Given the description of an element on the screen output the (x, y) to click on. 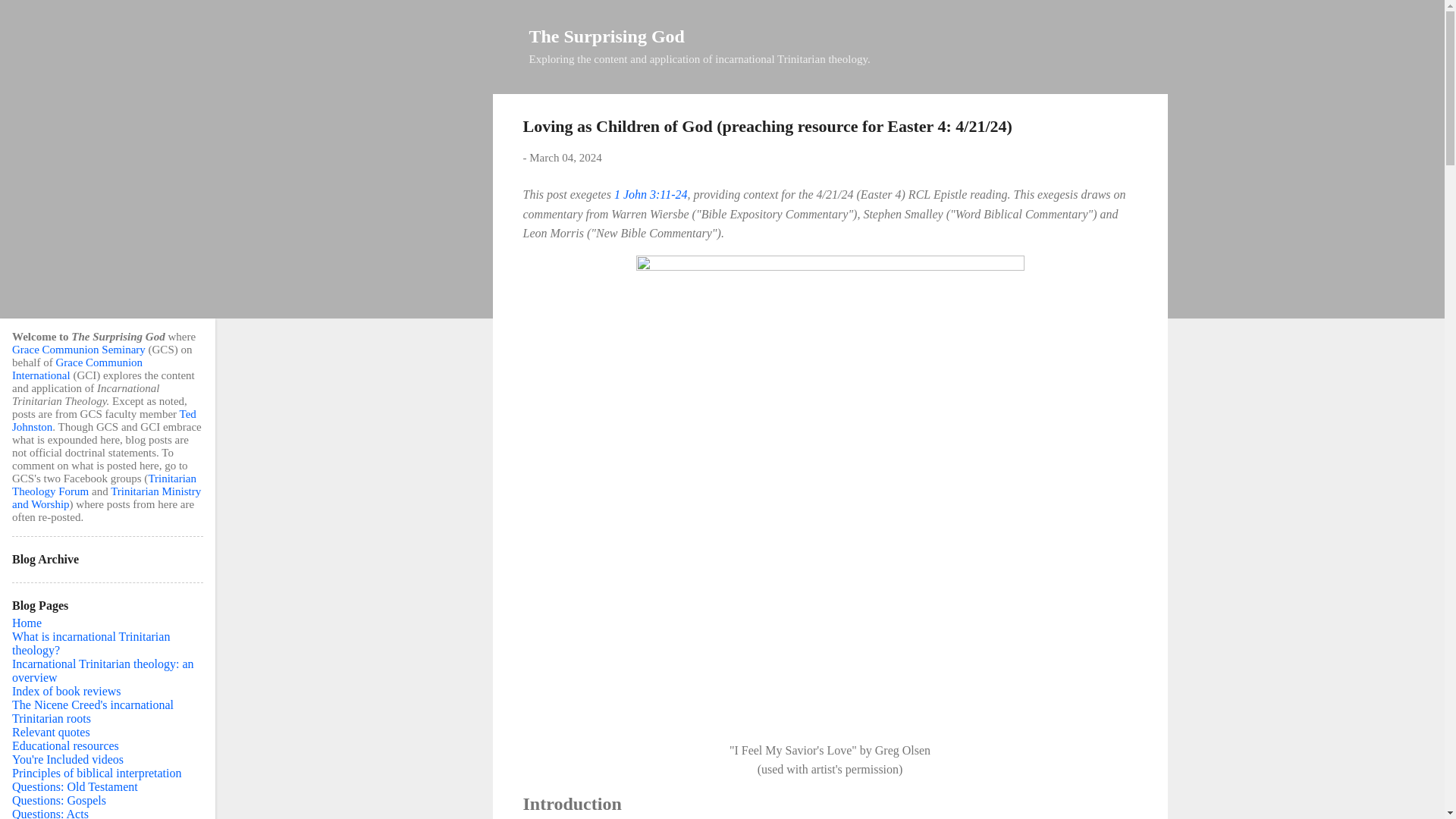
The Surprising God (606, 35)
March 04, 2024 (565, 157)
1 John 3:11-24 (650, 194)
Search (29, 18)
permanent link (565, 157)
